Given the description of an element on the screen output the (x, y) to click on. 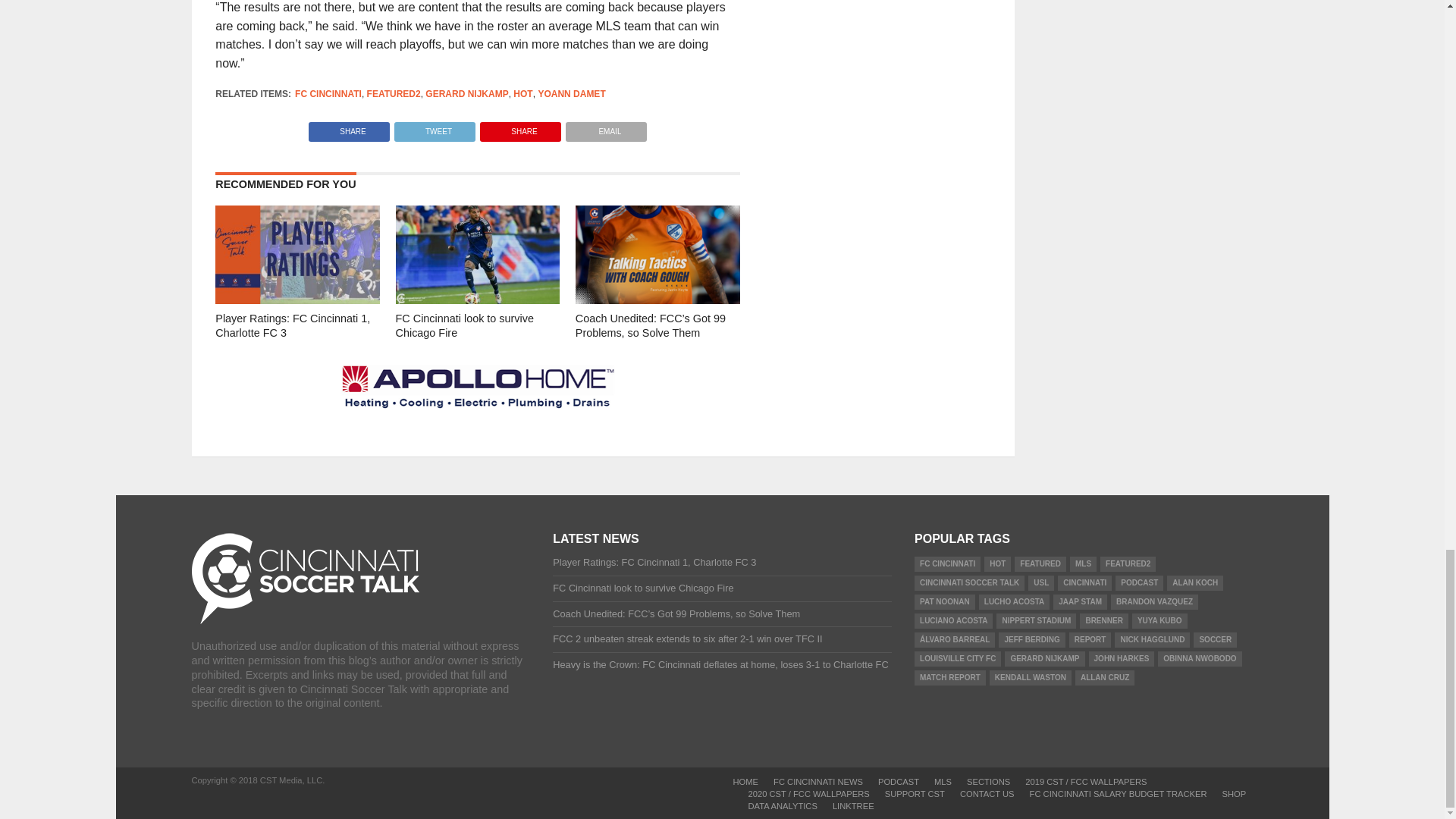
Share on Facebook (349, 127)
FC Cincinnati look to survive Chicago Fire (478, 299)
Player Ratings: FC Cincinnati 1, Charlotte FC 3 (297, 299)
Tweet This Post (434, 127)
Pin This Post (520, 127)
